Given the description of an element on the screen output the (x, y) to click on. 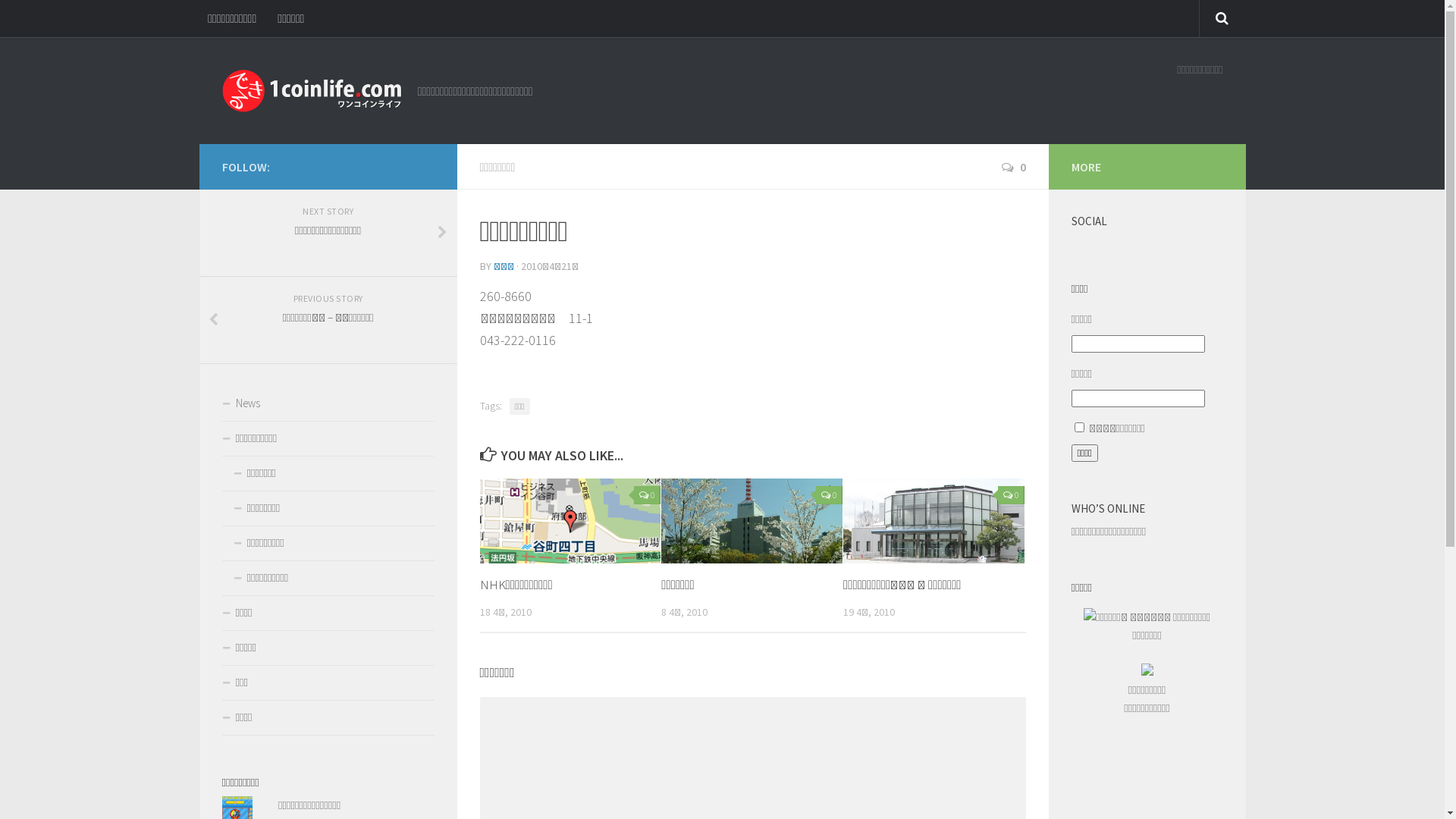
0 Element type: text (1013, 166)
0 Element type: text (646, 495)
0 Element type: text (828, 495)
News Element type: text (327, 403)
0 Element type: text (1010, 495)
